Given the description of an element on the screen output the (x, y) to click on. 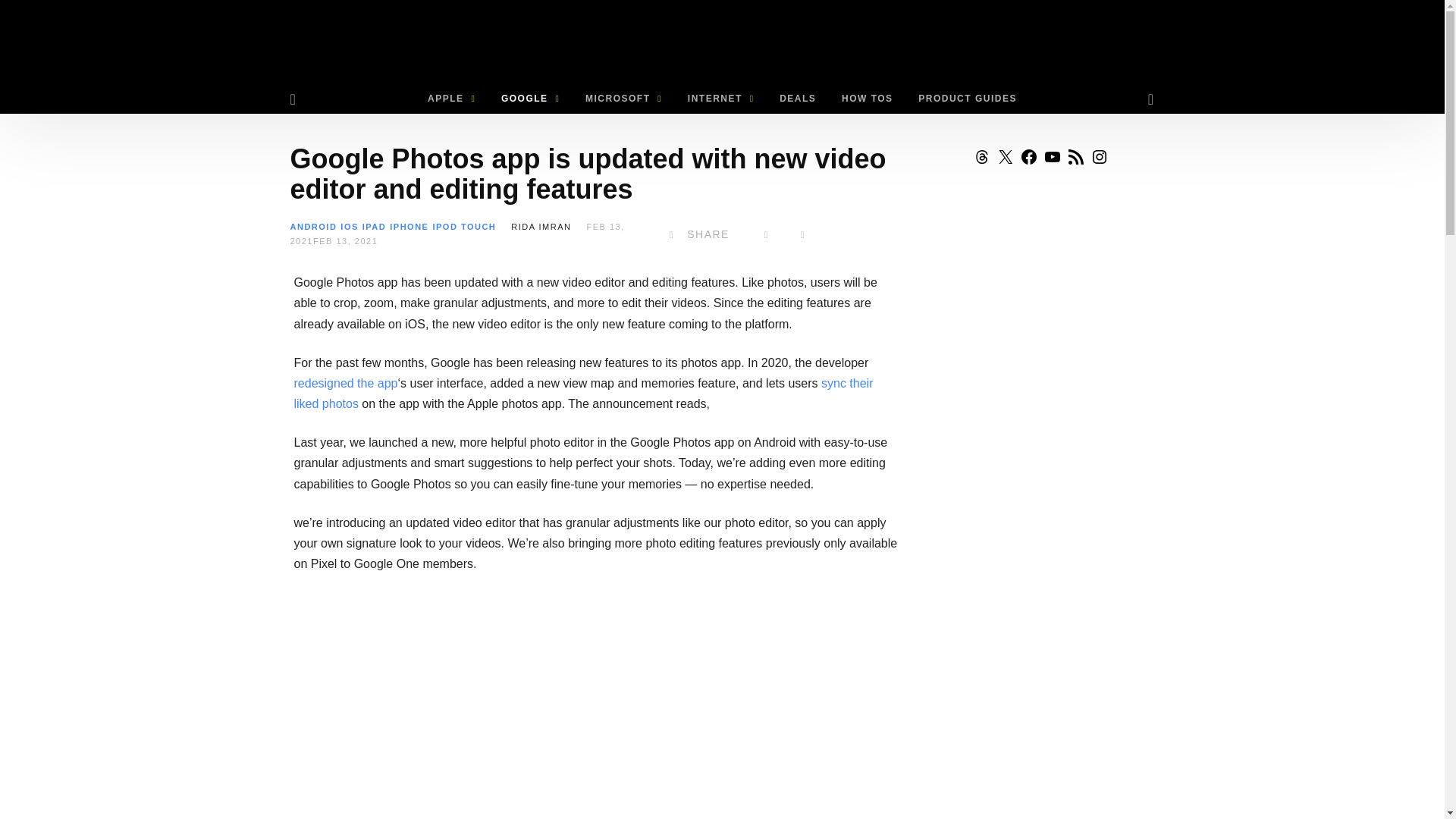
ANDROID (312, 225)
View all posts in iPod Touch (464, 225)
APPLE (451, 98)
IOS (349, 225)
RIDA IMRAN (540, 225)
Share on Facebook (695, 234)
View all posts in iOS (349, 225)
INTERNET (721, 98)
MICROSOFT (622, 98)
Share on Twitter (766, 234)
